Given the description of an element on the screen output the (x, y) to click on. 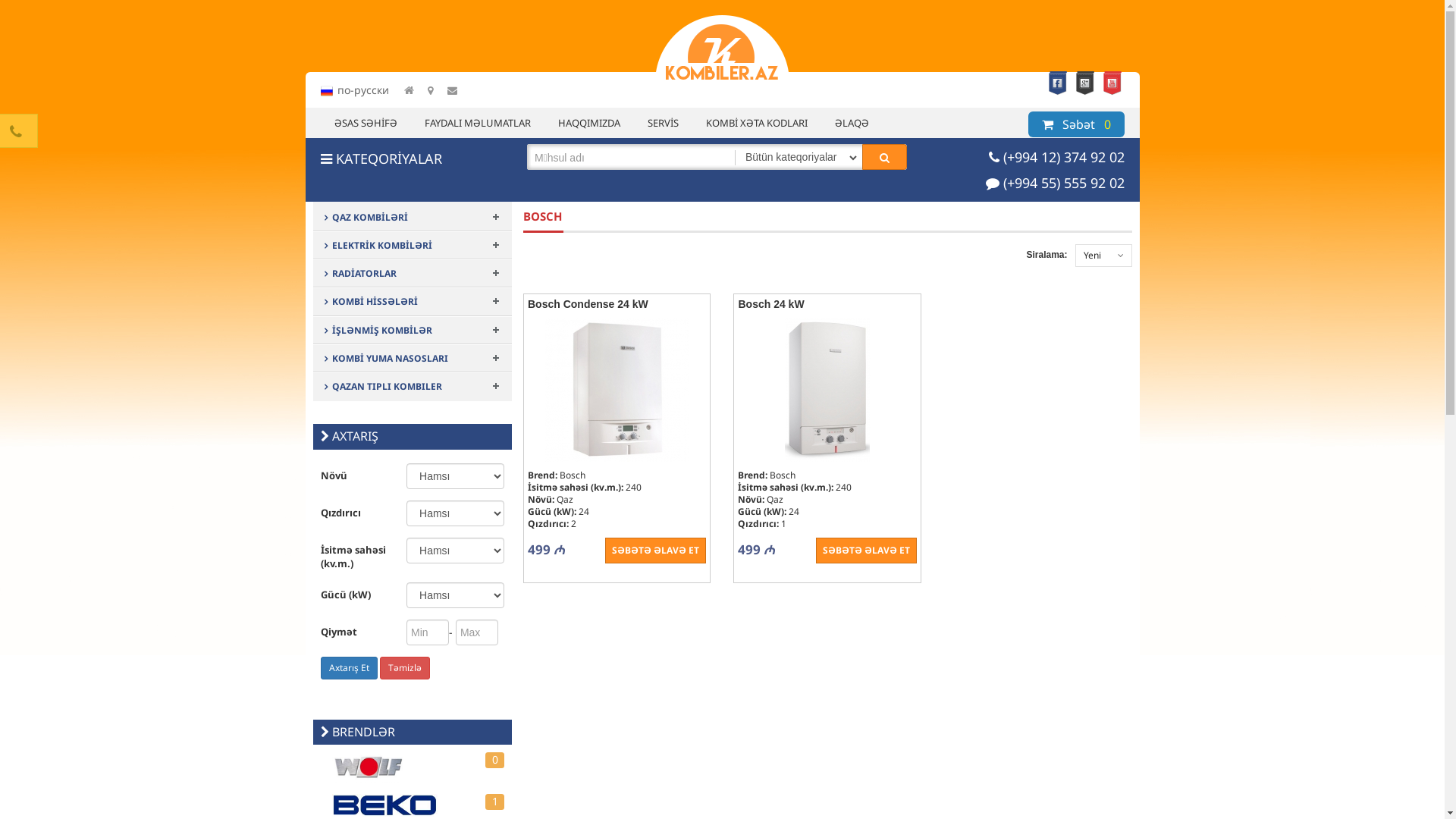
(+994 55) 555 92 02 Element type: text (1062, 182)
QAZAN TIPLI KOMBILER Element type: text (383, 386)
HAQQIMIZDA Element type: text (588, 122)
Google Plus Element type: text (1085, 83)
Bosch 24 kW Element type: text (826, 303)
Facebook Element type: text (1057, 83)
Youtube Element type: text (1111, 83)
Yeni Element type: text (1091, 254)
Bosch Condense 24 kW Element type: text (616, 303)
